Given the description of an element on the screen output the (x, y) to click on. 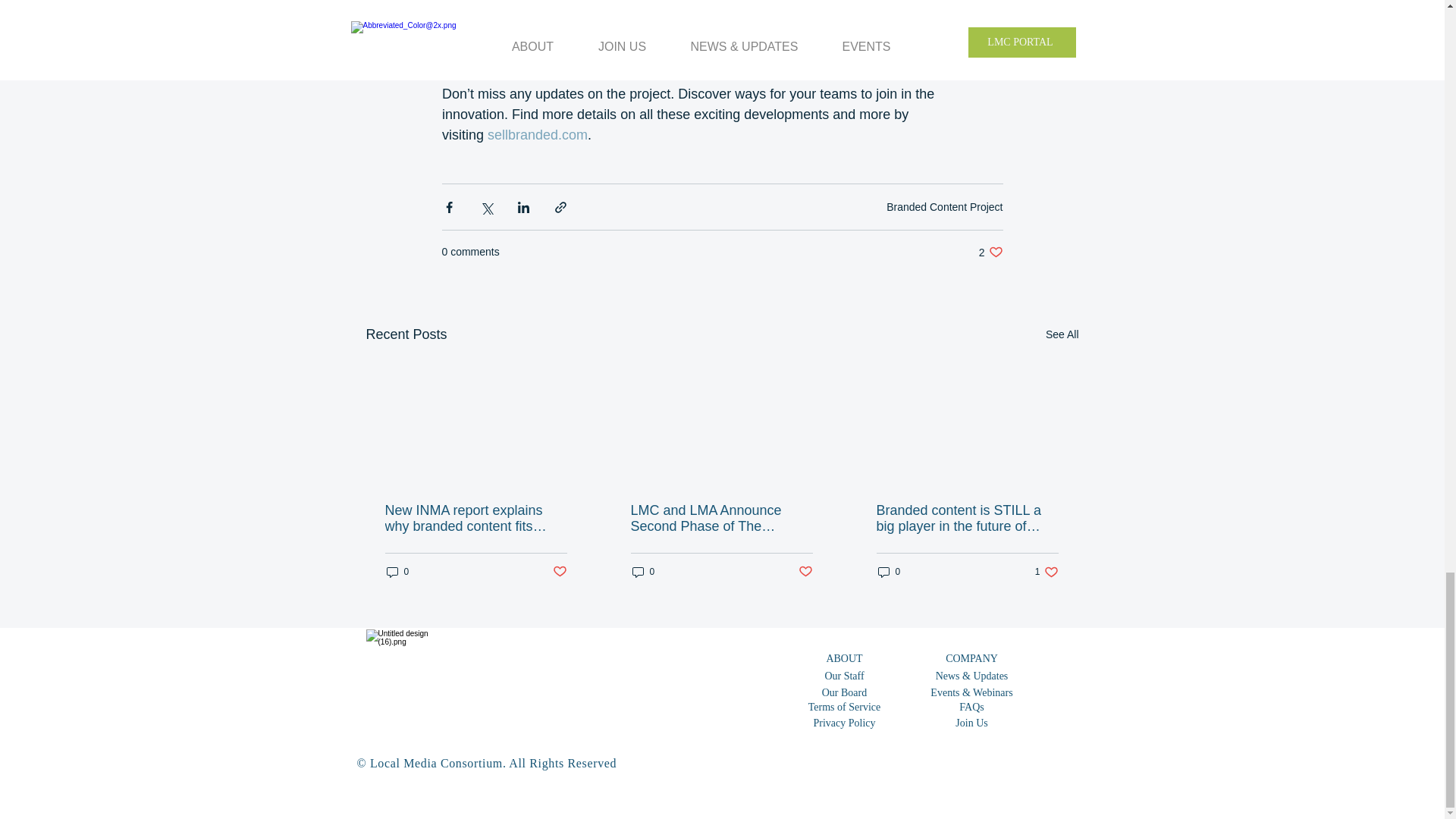
0 (643, 572)
sellbranded.com (537, 134)
0 (990, 251)
Post not marked as liked (397, 572)
See All (558, 571)
Branded Content Project (1061, 334)
Post not marked as liked (944, 206)
